Given the description of an element on the screen output the (x, y) to click on. 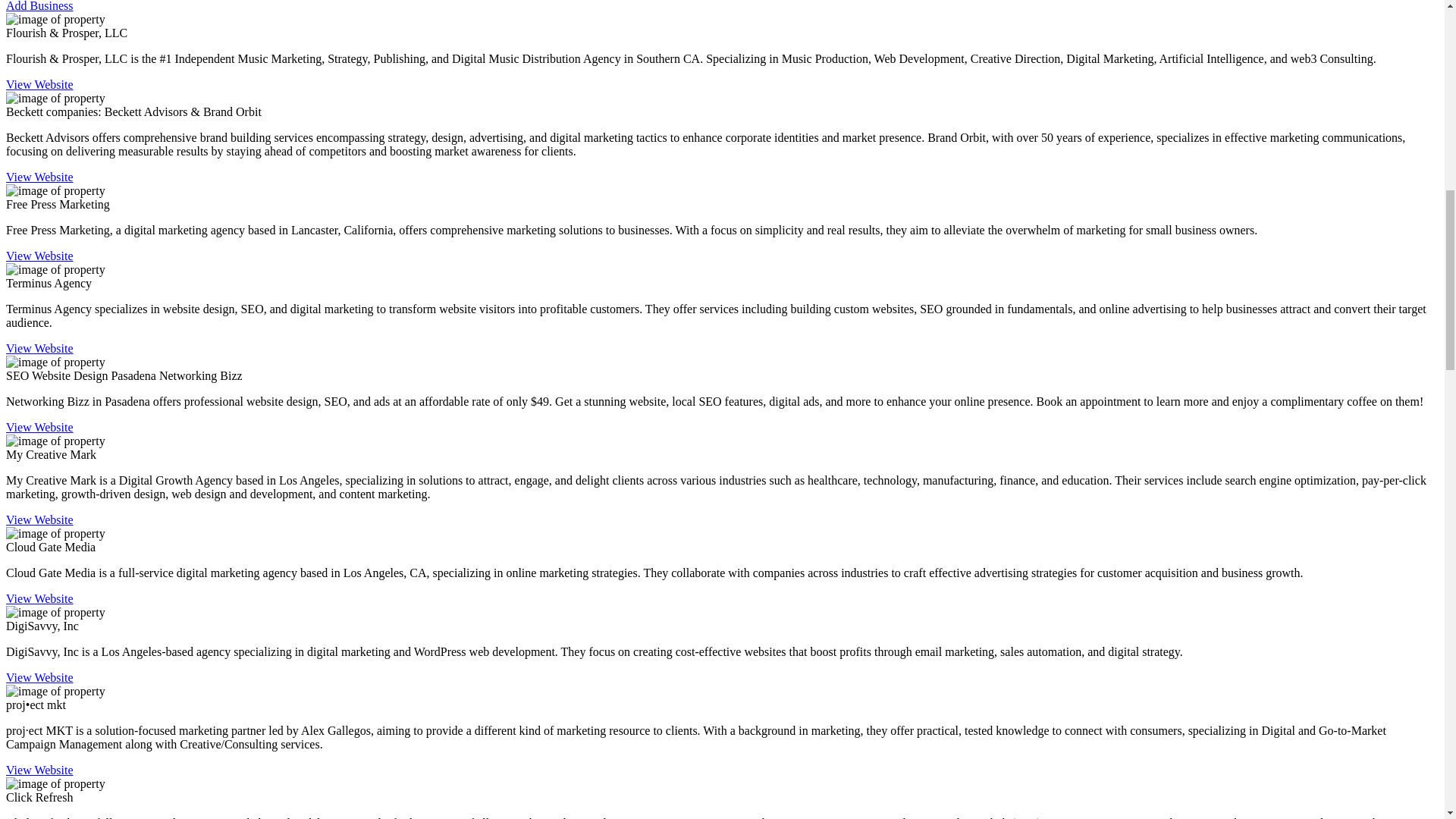
View Website (39, 769)
View Website (39, 519)
View Website (39, 176)
View Website (39, 83)
View Website (39, 348)
Add Business (38, 6)
View Website (39, 427)
View Website (39, 598)
View Website (39, 255)
View Website (39, 676)
